Given the description of an element on the screen output the (x, y) to click on. 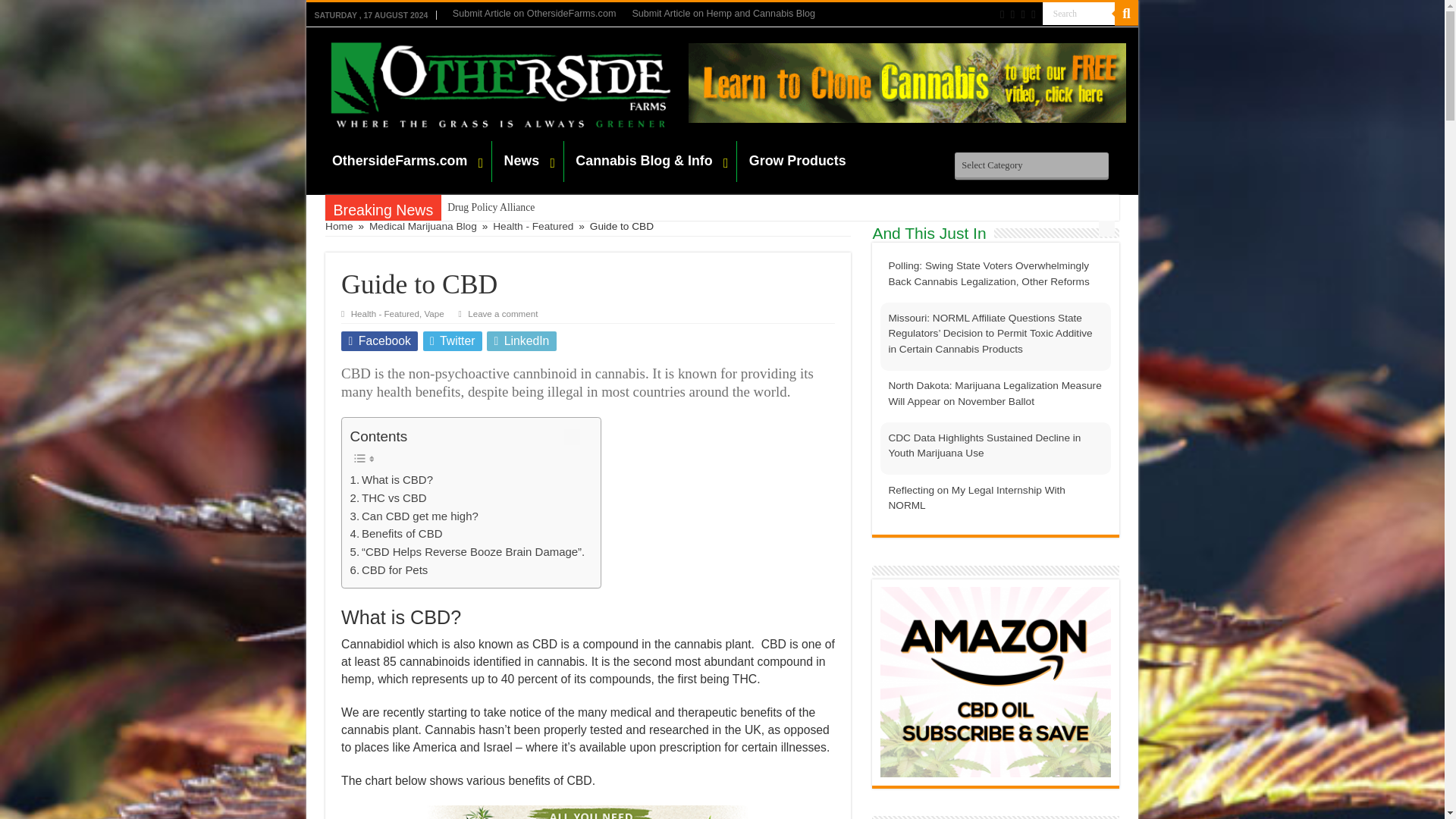
Search (1072, 13)
News (501, 153)
Submit Article on OthersideFarms.com (508, 13)
Search (1026, 12)
Search (1026, 12)
Submit Article on Hemp and Cannabis Blog (689, 13)
Search (1026, 12)
OthersideFarms.com (385, 153)
Search (526, 414)
Medical Marijuana Blog (475, 77)
